Given the description of an element on the screen output the (x, y) to click on. 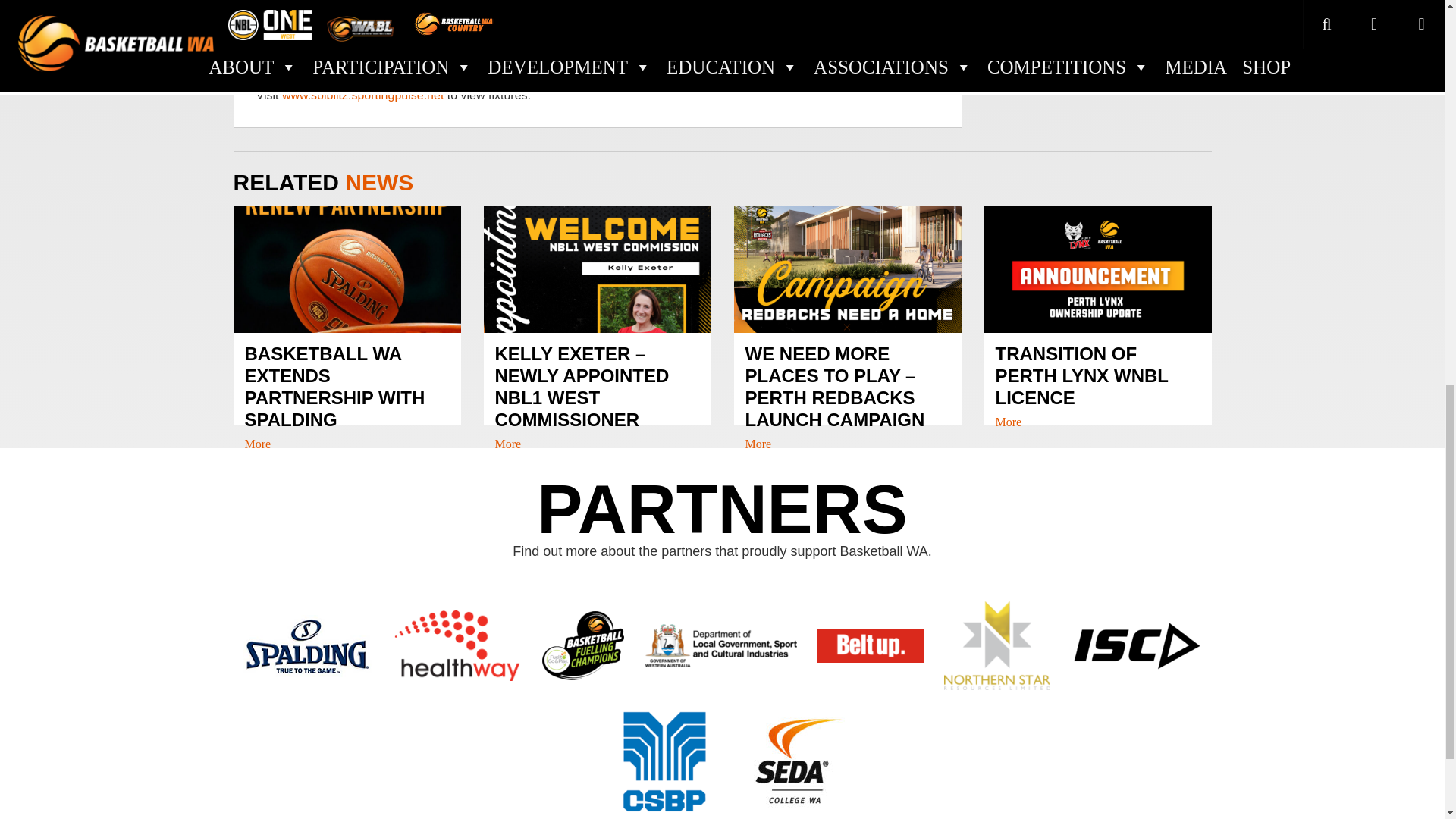
more (508, 444)
BASKETBALL WA EXTENDS PARTNERSHIP WITH SPALDING (346, 396)
more (257, 444)
